Given the description of an element on the screen output the (x, y) to click on. 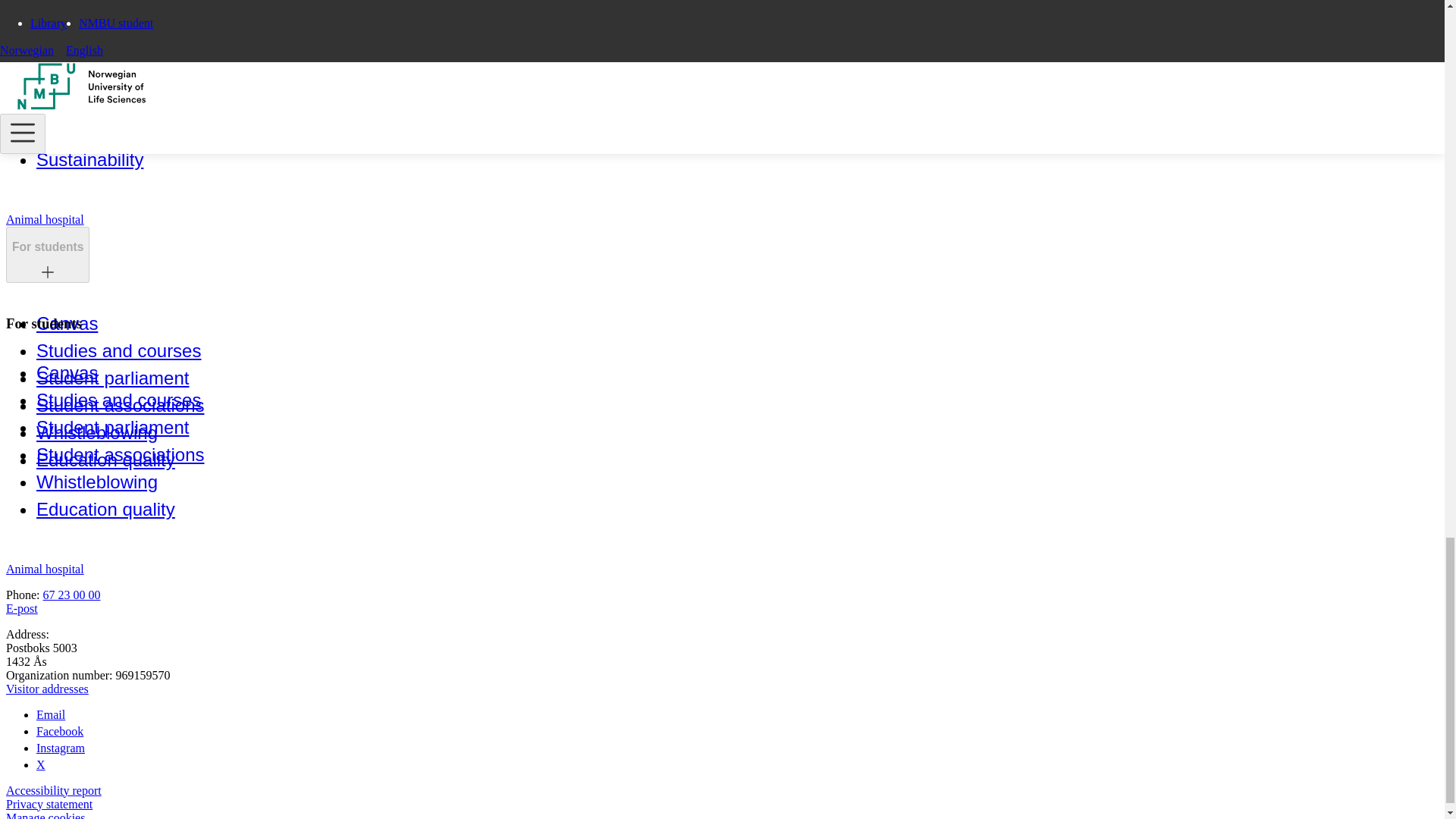
Innovation (78, 55)
For students (46, 246)
Research (75, 28)
